Given the description of an element on the screen output the (x, y) to click on. 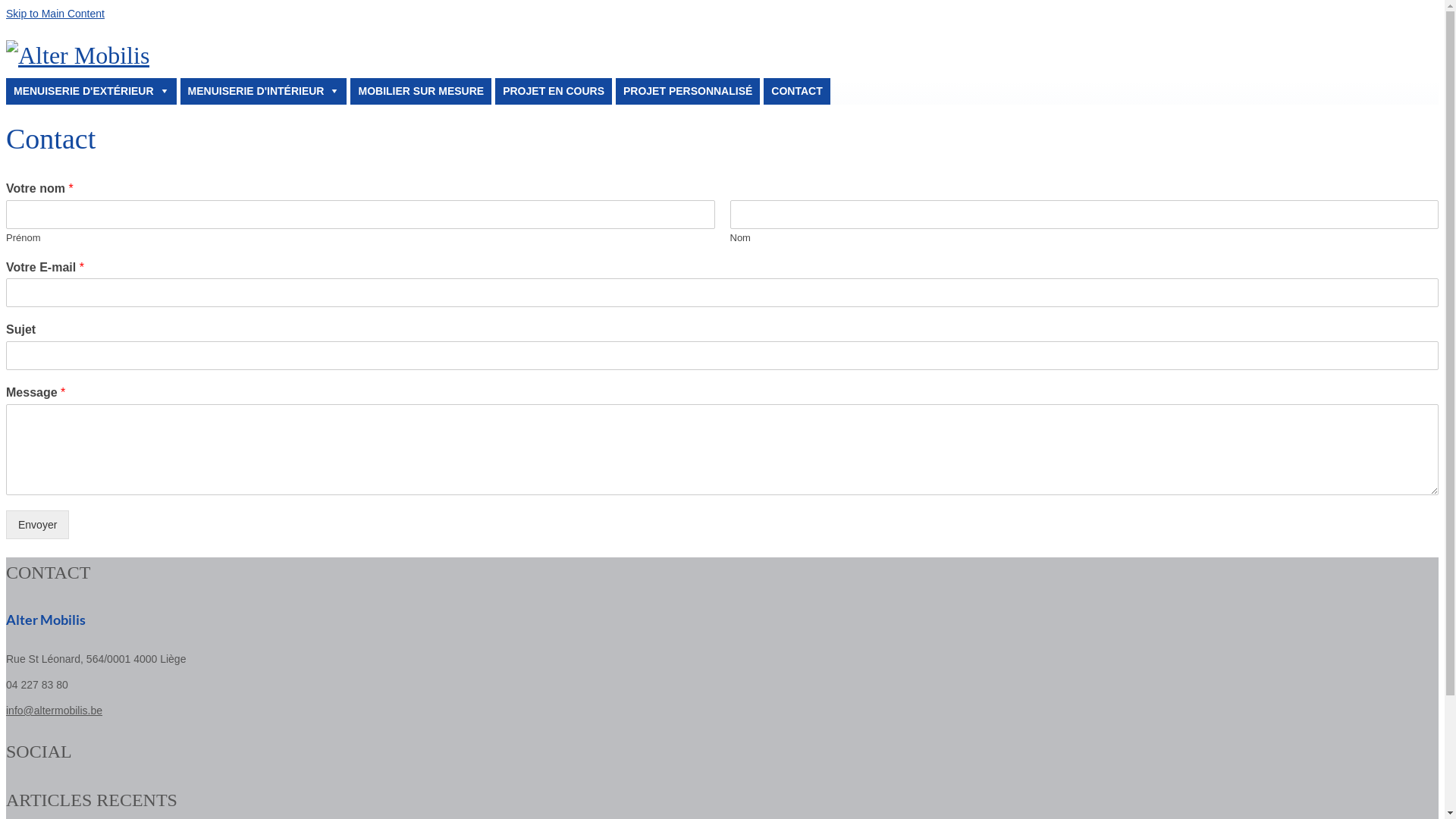
Envoyer Element type: text (37, 524)
Skip to Main Content Element type: text (55, 13)
info@altermobilis.be Element type: text (54, 710)
MOBILIER SUR MESURE Element type: text (420, 91)
CONTACT Element type: text (796, 91)
PROJET EN COURS Element type: text (553, 91)
